Given the description of an element on the screen output the (x, y) to click on. 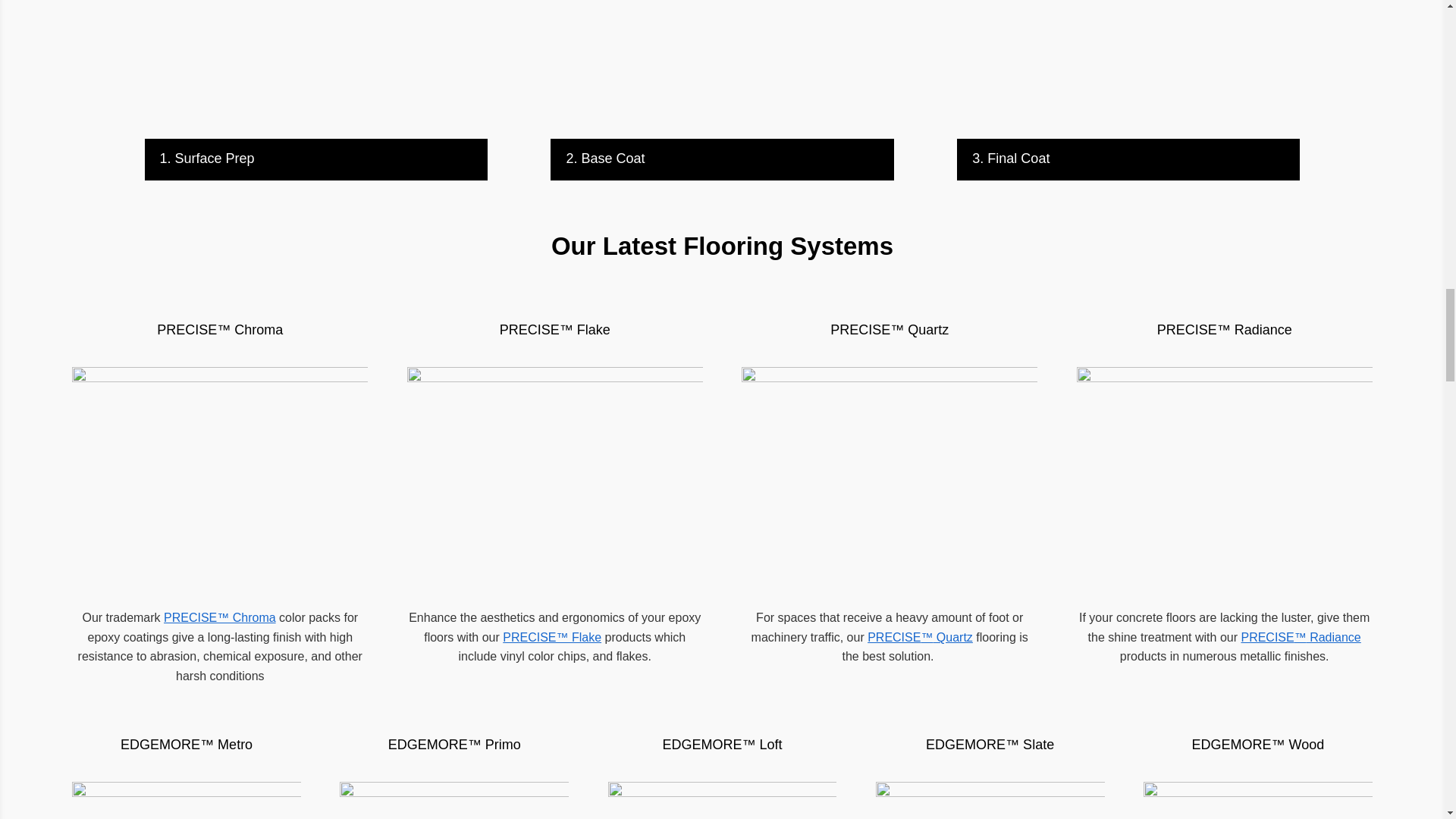
Landen KC Church during (721, 69)
Mid Process (315, 69)
Landen KC Church after (1128, 69)
